Given the description of an element on the screen output the (x, y) to click on. 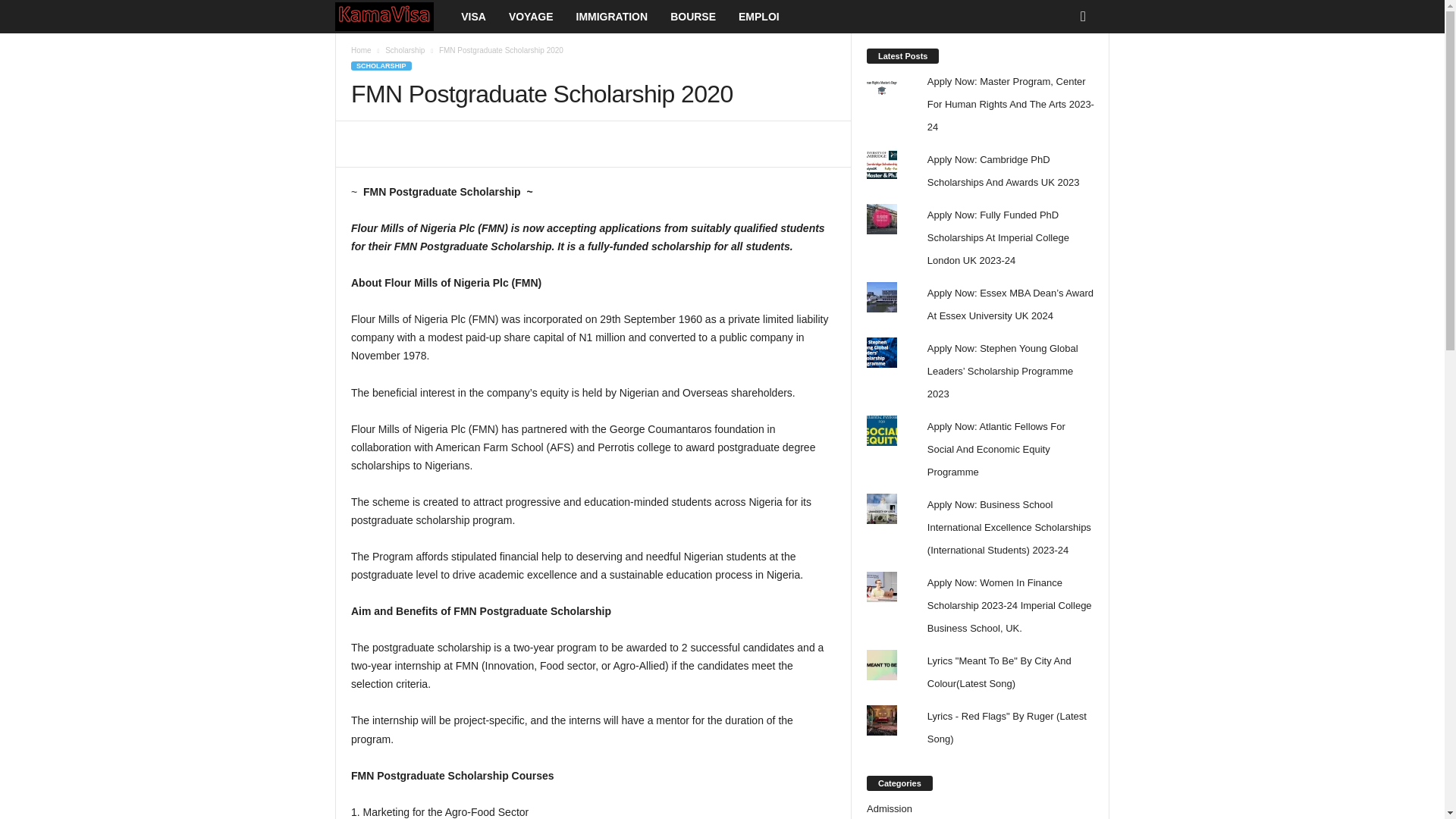
Home (360, 49)
View all posts in Scholarship (405, 49)
Scholarship (405, 49)
VISA (473, 16)
SCHOLARSHIP (381, 65)
BOURSE (692, 16)
IMMIGRATION (611, 16)
EMPLOI (758, 16)
KamaVisa (391, 16)
VOYAGE (530, 16)
